Given the description of an element on the screen output the (x, y) to click on. 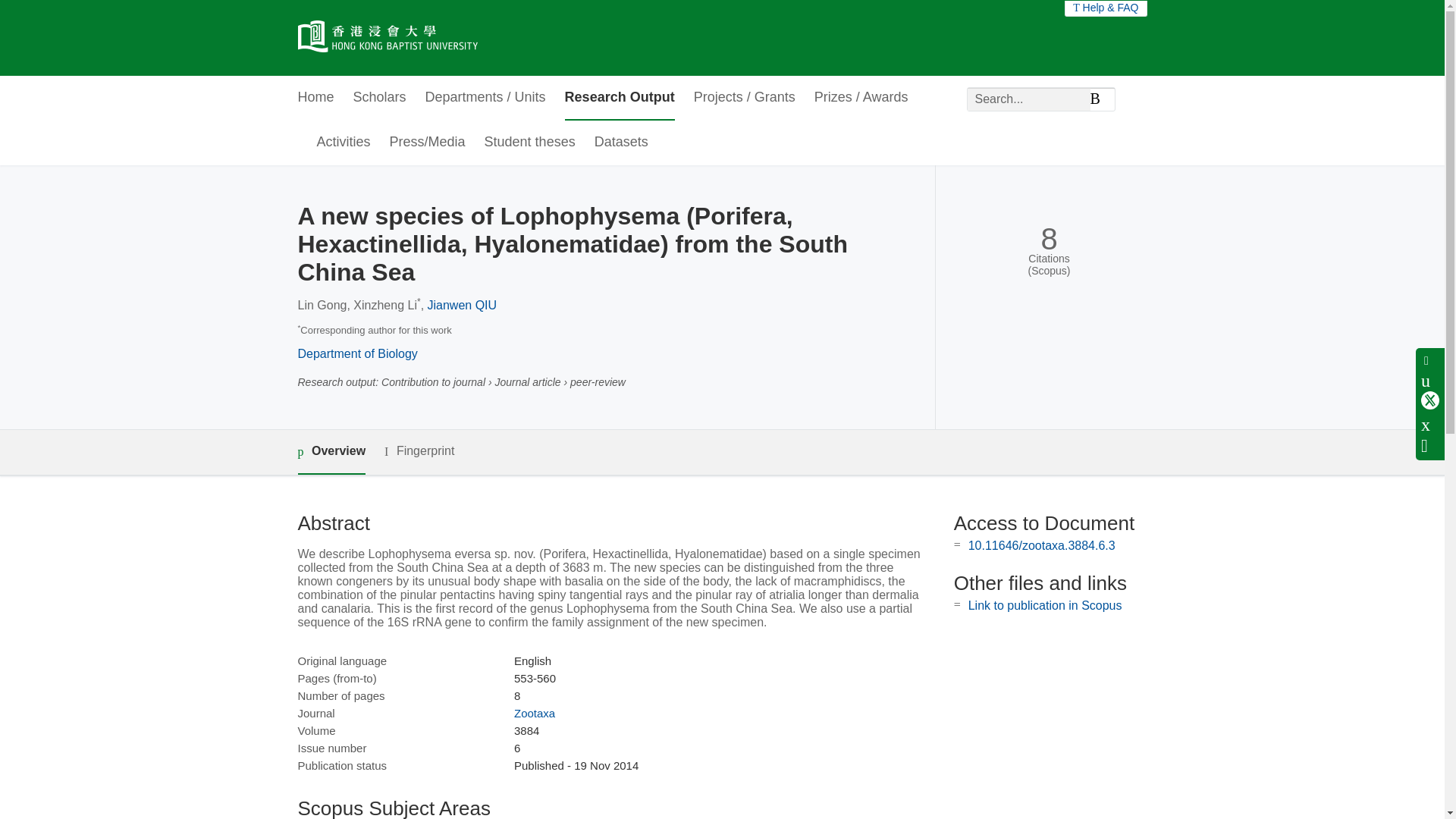
Student theses (529, 142)
Zootaxa (533, 712)
Activities (344, 142)
Scholars (379, 98)
Overview (331, 452)
Datasets (620, 142)
Research Output (619, 98)
Department of Biology (356, 353)
Link to publication in Scopus (1045, 604)
